Given the description of an element on the screen output the (x, y) to click on. 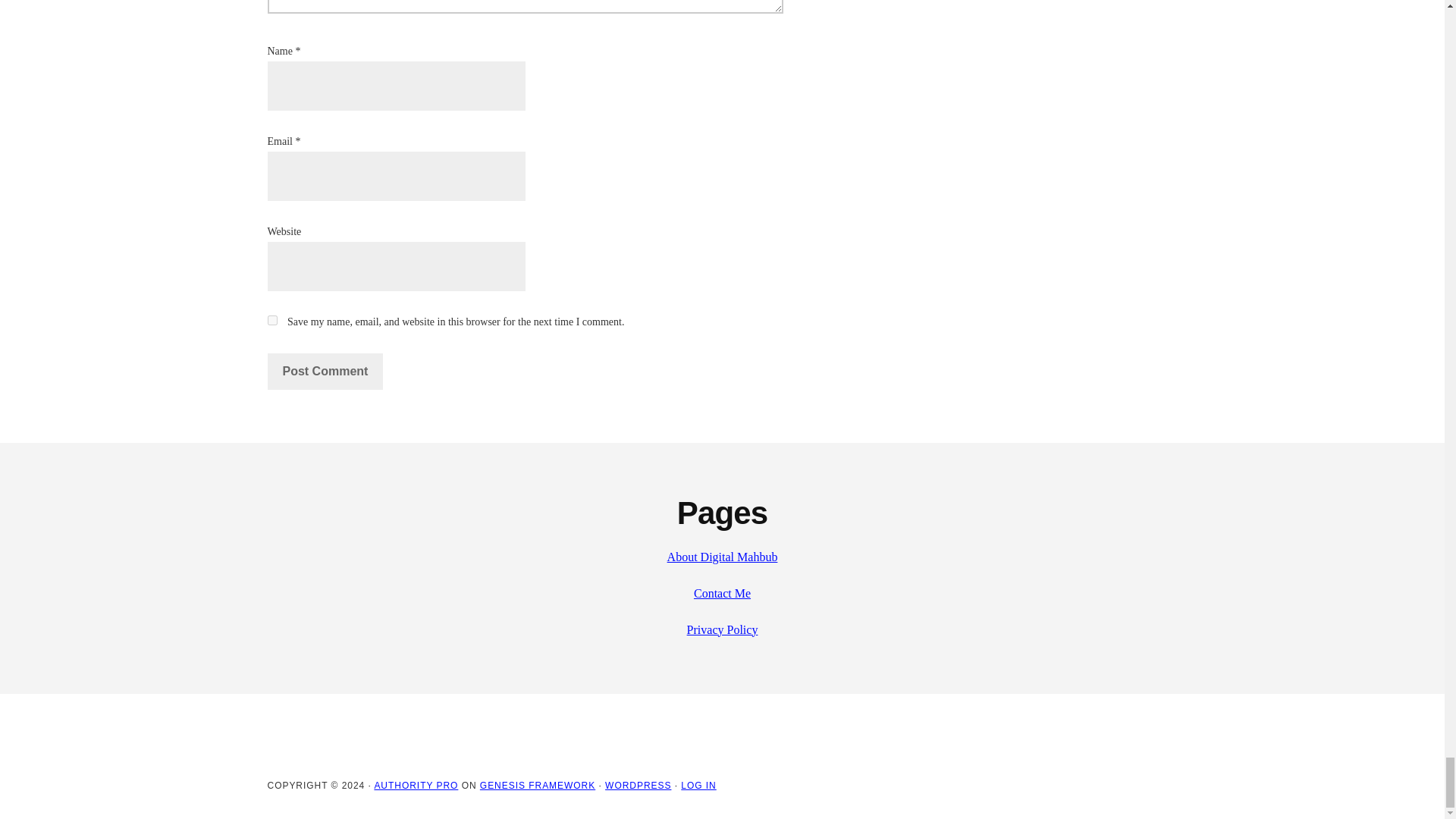
Post Comment (324, 370)
yes (271, 320)
